Given the description of an element on the screen output the (x, y) to click on. 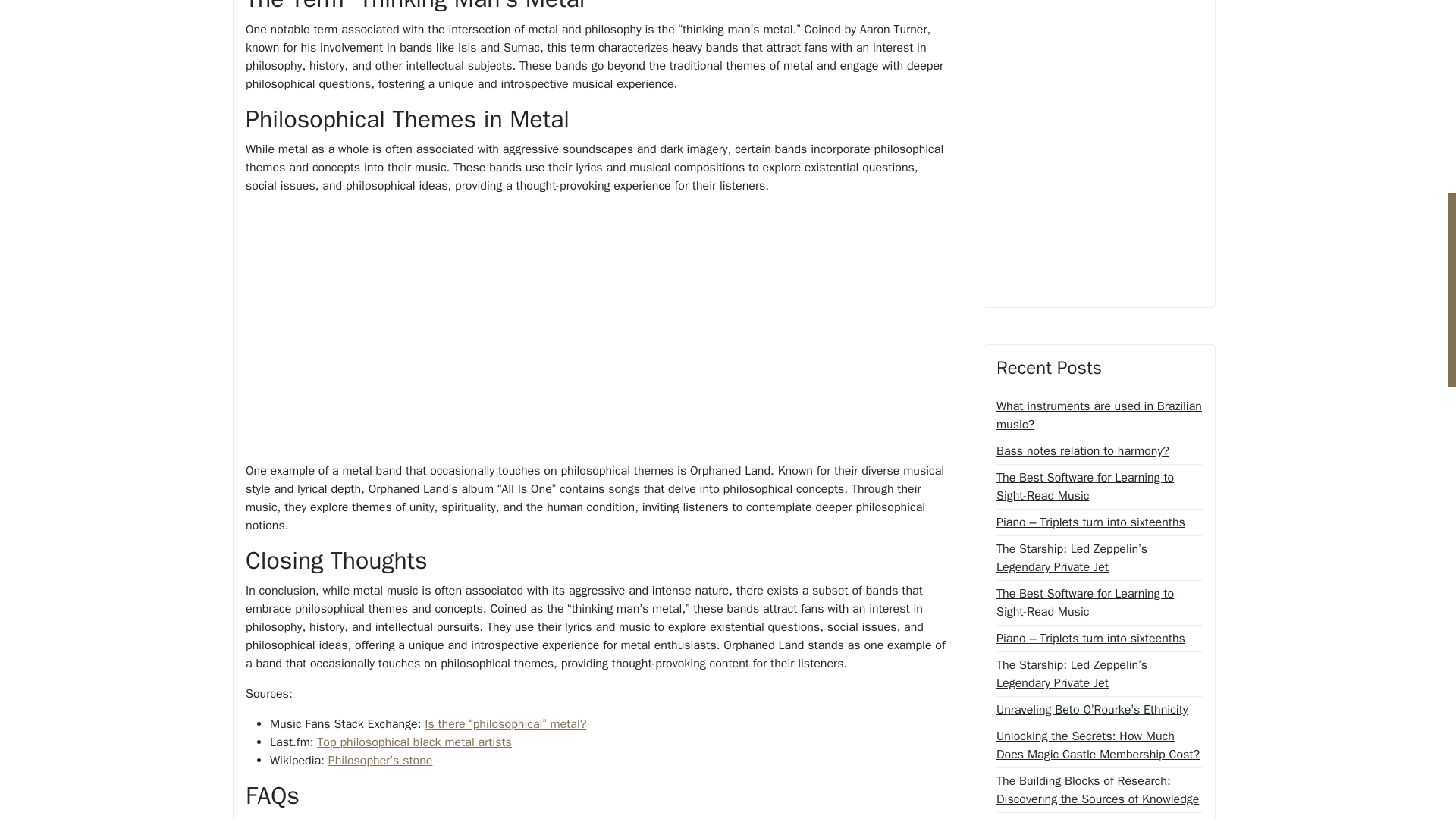
Top philosophical black metal artists (414, 742)
The Best Software for Learning to Sight-Read Music (1098, 486)
The Best Software for Learning to Sight-Read Music (1098, 602)
What instruments are used in Brazilian music? (1098, 415)
Bass notes relation to harmony? (1082, 451)
GameTune: A Guide to Tagging Video Game Music like Shazam (1098, 817)
